Given the description of an element on the screen output the (x, y) to click on. 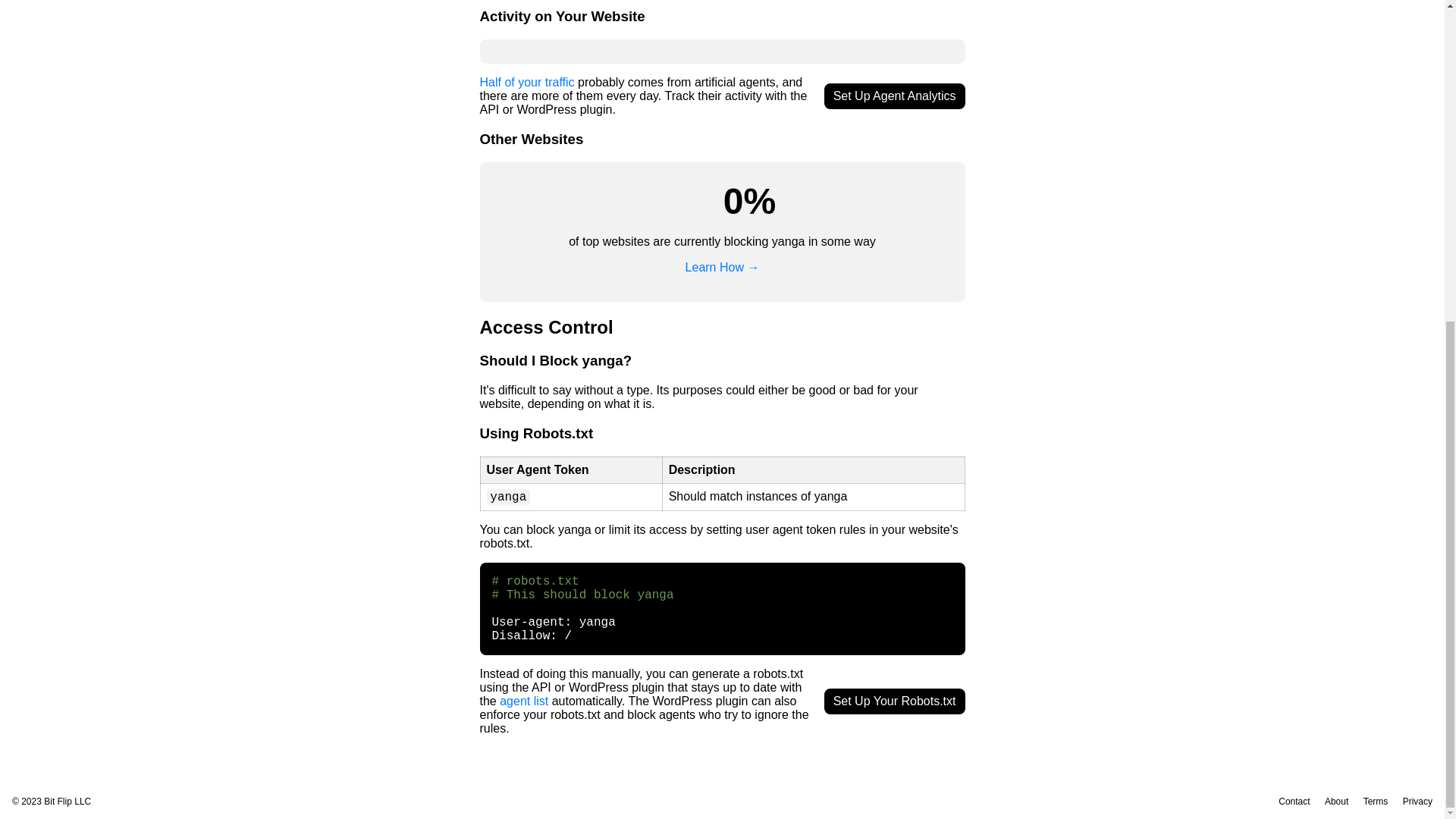
agent list (523, 700)
About (1336, 801)
Half of your traffic (526, 82)
Set Up Agent Analytics (894, 95)
Set Up Your Robots.txt (894, 701)
Terms (1375, 801)
Contact (1293, 801)
Privacy (1417, 801)
